Given the description of an element on the screen output the (x, y) to click on. 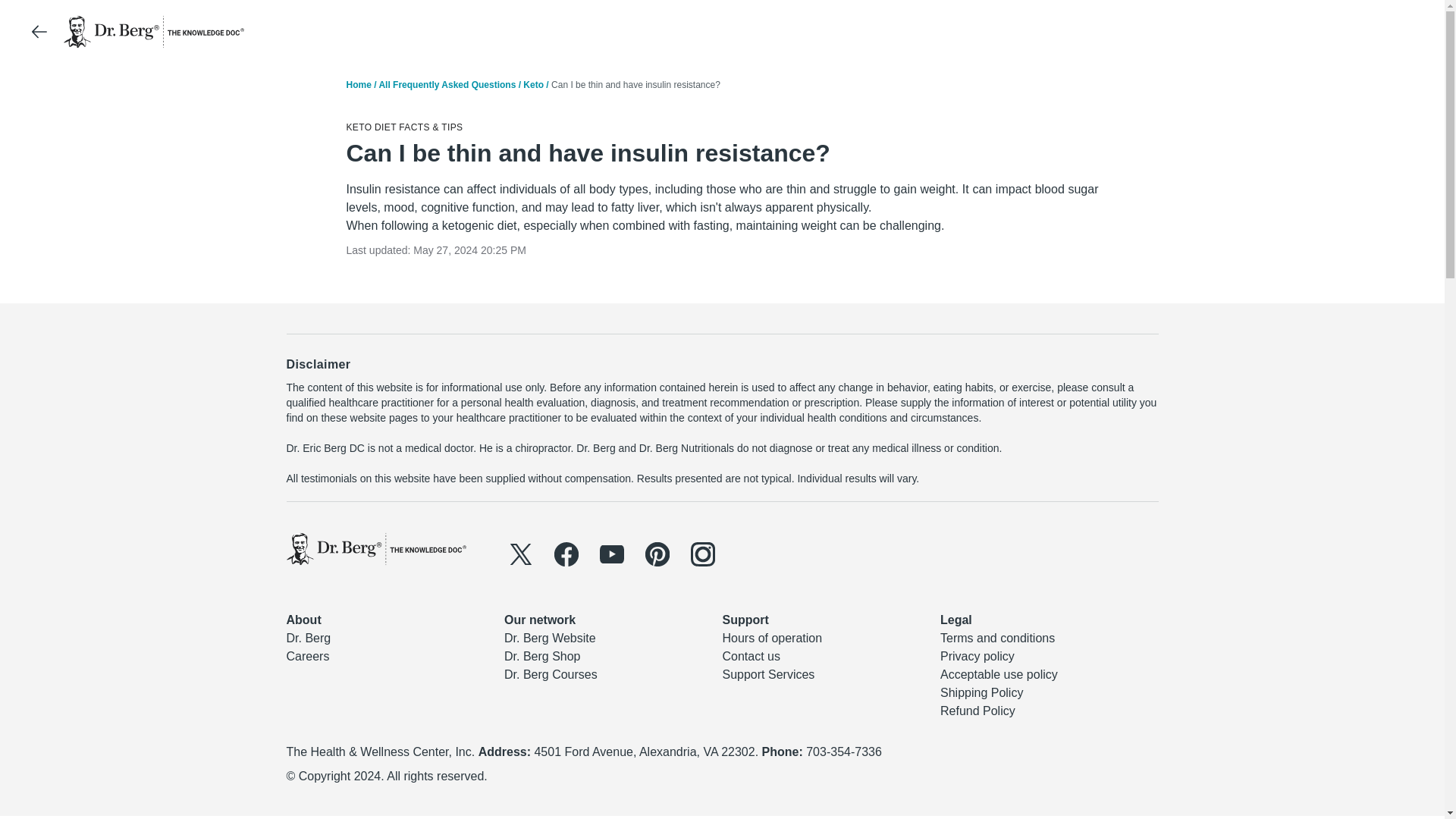
Careers (308, 656)
Acceptable use policy (999, 674)
Dr. Berg Shop (541, 656)
Support Services (767, 674)
Refund Policy (977, 710)
Dr. Berg Courses (549, 674)
All Frequently Asked Questions (446, 84)
Terms and conditions (997, 637)
Dr. Berg Website (549, 637)
Home (358, 84)
Privacy policy (977, 656)
Dr. Berg (308, 637)
Shipping Policy (981, 692)
